Given the description of an element on the screen output the (x, y) to click on. 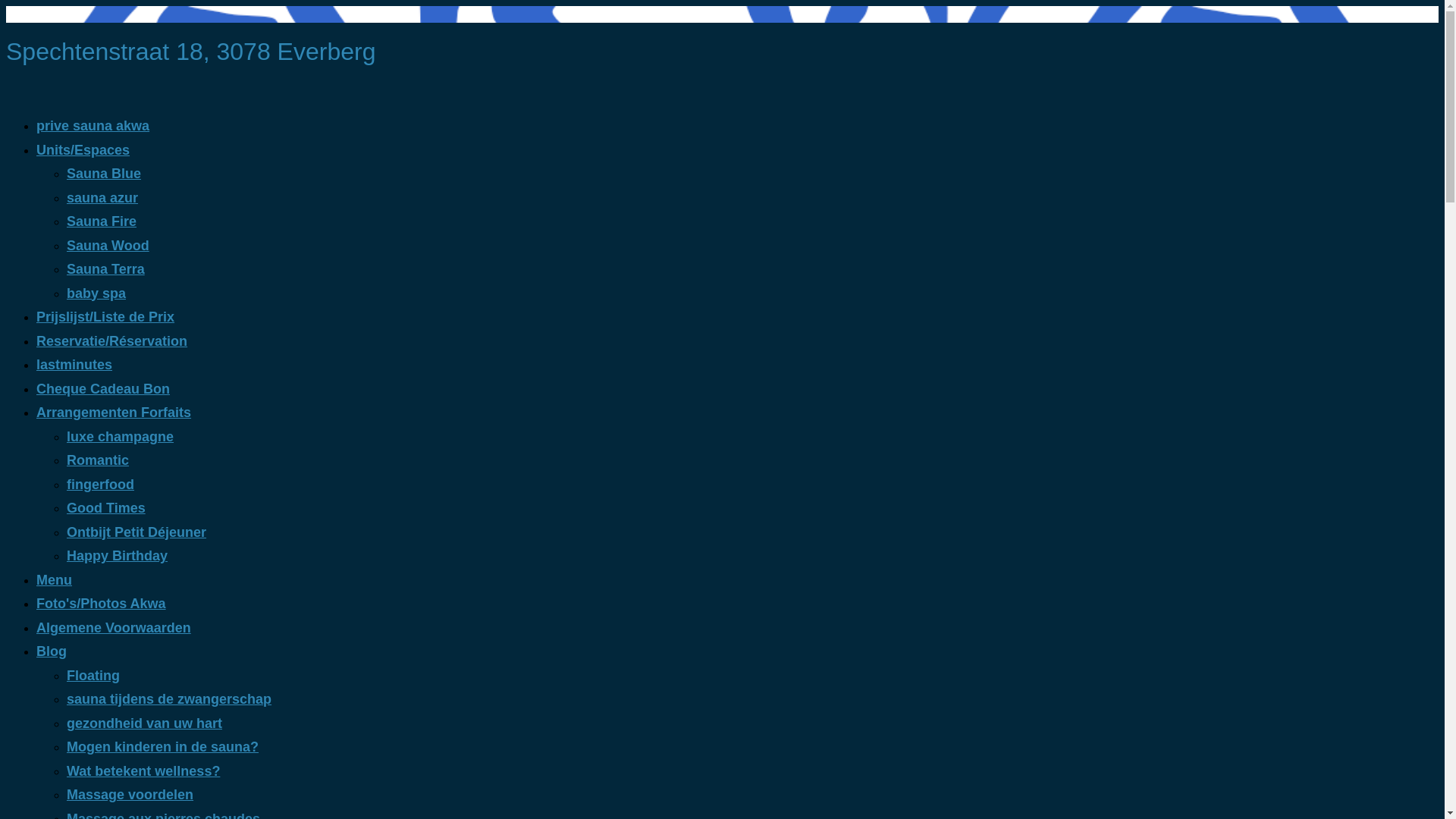
luxe champagne Element type: text (119, 436)
Good Times Element type: text (105, 507)
gezondheid van uw hart Element type: text (144, 723)
Sauna Blue Element type: text (103, 173)
baby spa Element type: text (95, 293)
Prijslijst/Liste de Prix Element type: text (105, 316)
Romantic Element type: text (97, 459)
Sauna Fire Element type: text (101, 221)
Foto's/Photos Akwa Element type: text (101, 603)
Massage voordelen Element type: text (129, 794)
Sauna Wood Element type: text (107, 245)
Wat betekent wellness? Element type: text (142, 770)
Sauna Terra Element type: text (105, 268)
Algemene Voorwaarden Element type: text (113, 627)
lastminutes Element type: text (74, 364)
Floating Element type: text (92, 675)
Menu Element type: text (54, 579)
Happy Birthday Element type: text (116, 555)
fingerfood Element type: text (100, 484)
sauna azur Element type: text (102, 197)
Blog Element type: text (51, 650)
sauna tijdens de zwangerschap Element type: text (168, 698)
Arrangementen Forfaits Element type: text (113, 412)
Mogen kinderen in de sauna? Element type: text (162, 746)
prive sauna akwa Element type: text (92, 125)
Units/Espaces Element type: text (82, 149)
Cheque Cadeau Bon Element type: text (102, 388)
